Given the description of an element on the screen output the (x, y) to click on. 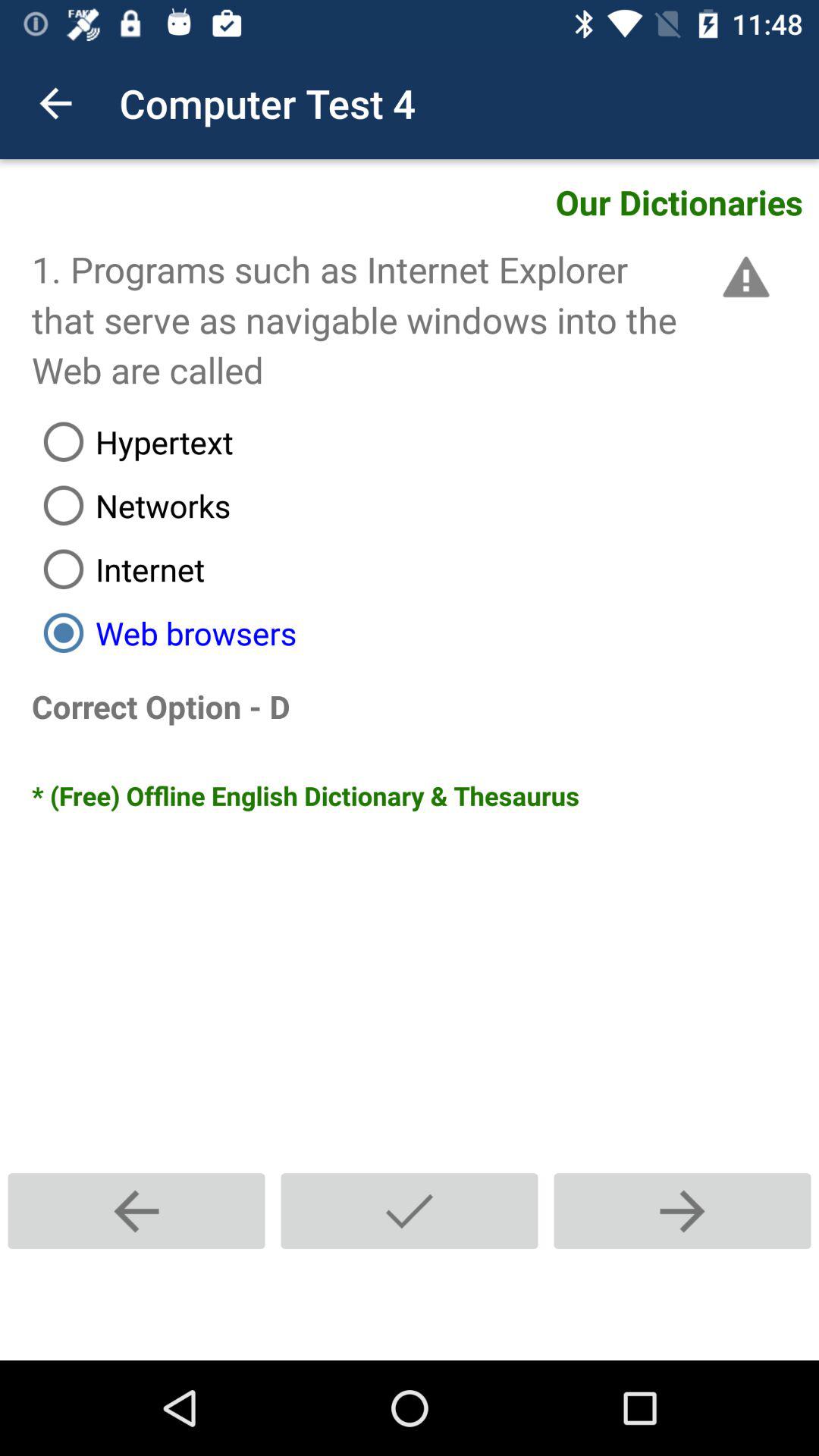
press the item at the bottom right corner (682, 1210)
